Given the description of an element on the screen output the (x, y) to click on. 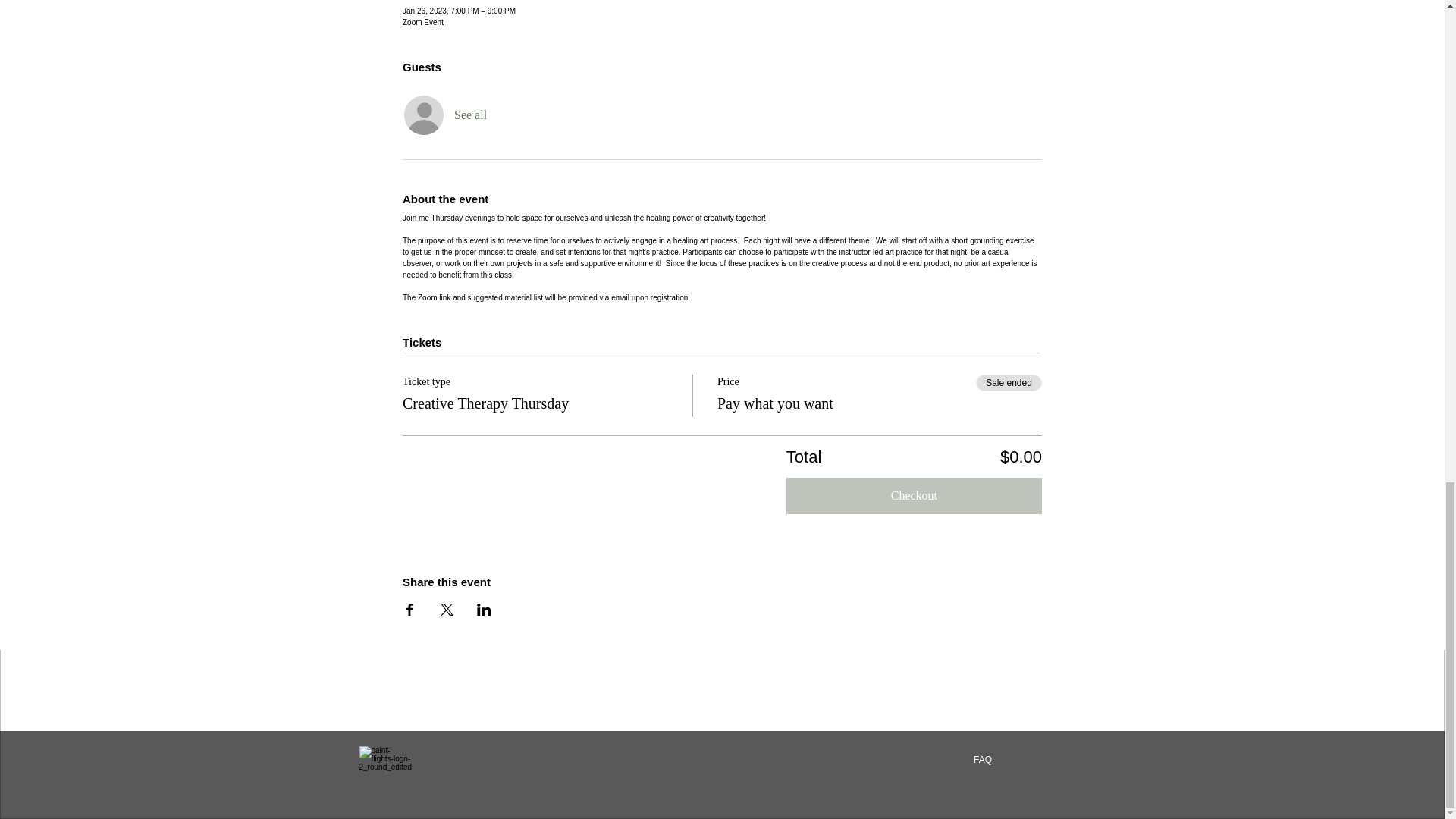
Checkout (914, 495)
See all (470, 115)
FAQ (982, 760)
